Given the description of an element on the screen output the (x, y) to click on. 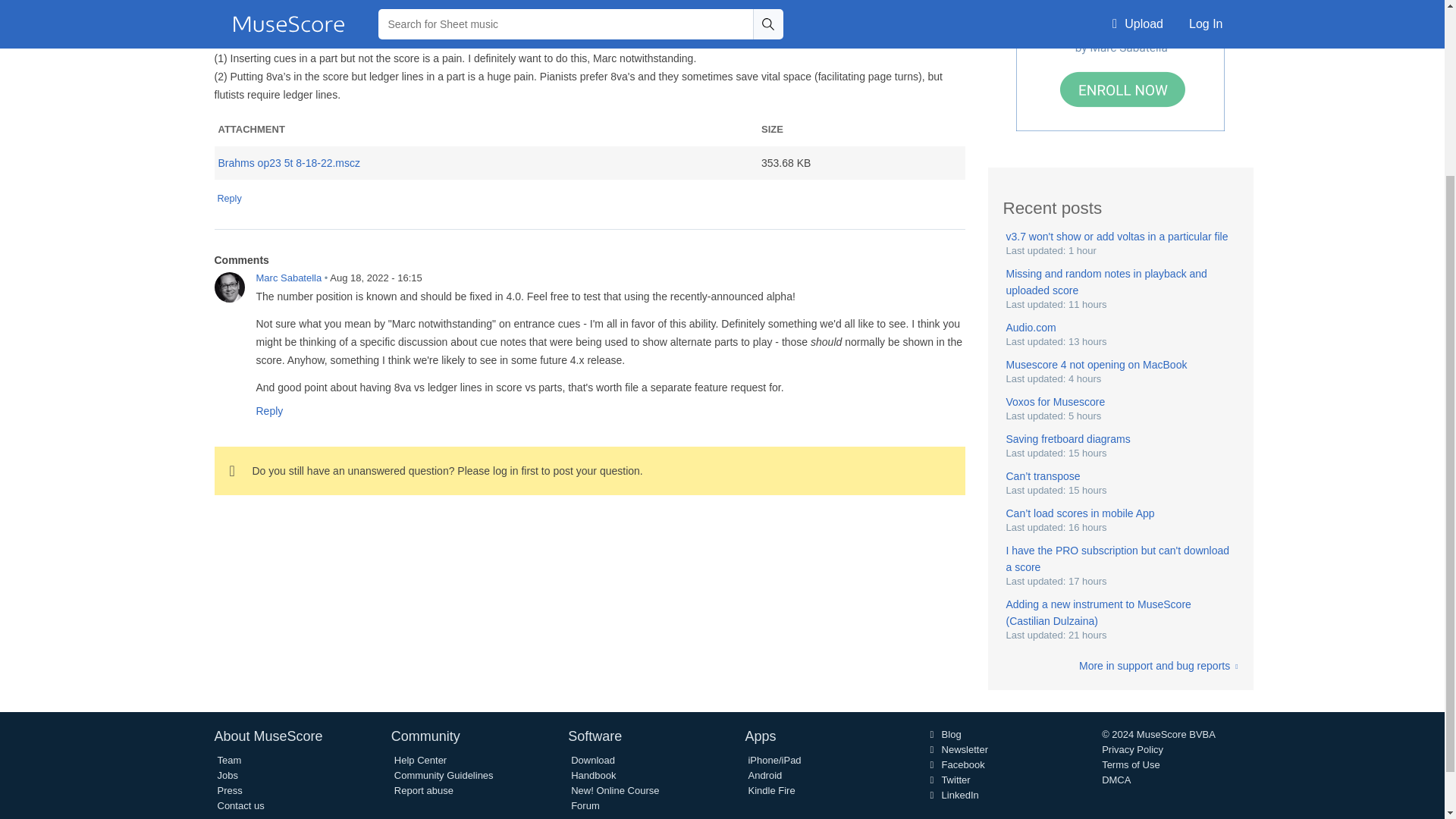
Marc Sabatella (229, 286)
